Given the description of an element on the screen output the (x, y) to click on. 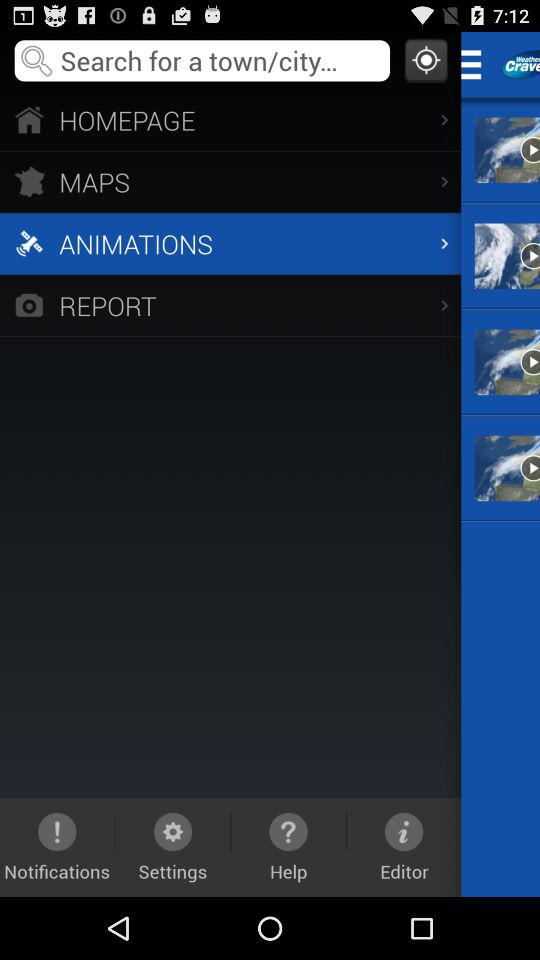
location gps option (426, 60)
